Given the description of an element on the screen output the (x, y) to click on. 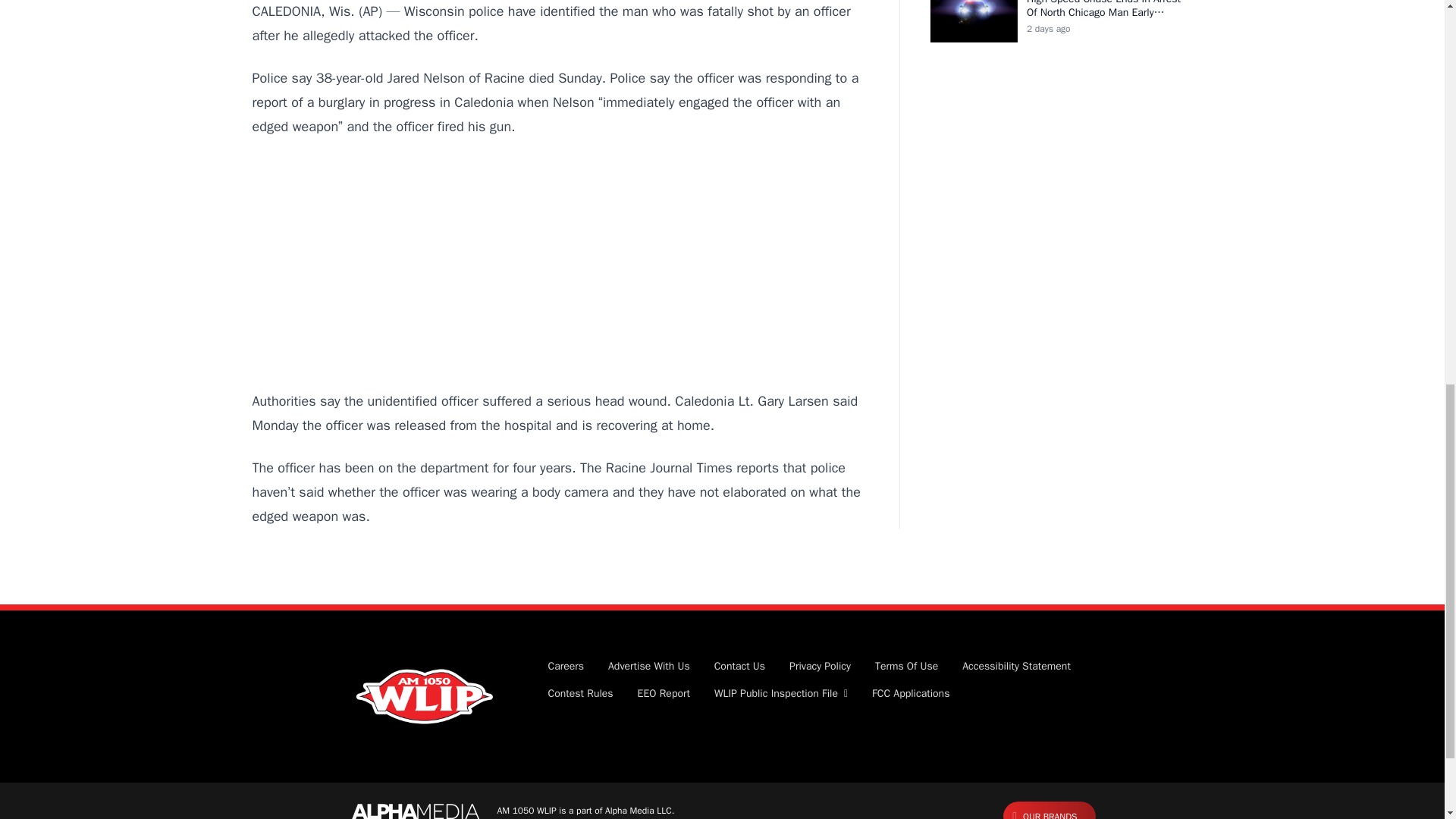
3rd party ad content (560, 263)
